Given the description of an element on the screen output the (x, y) to click on. 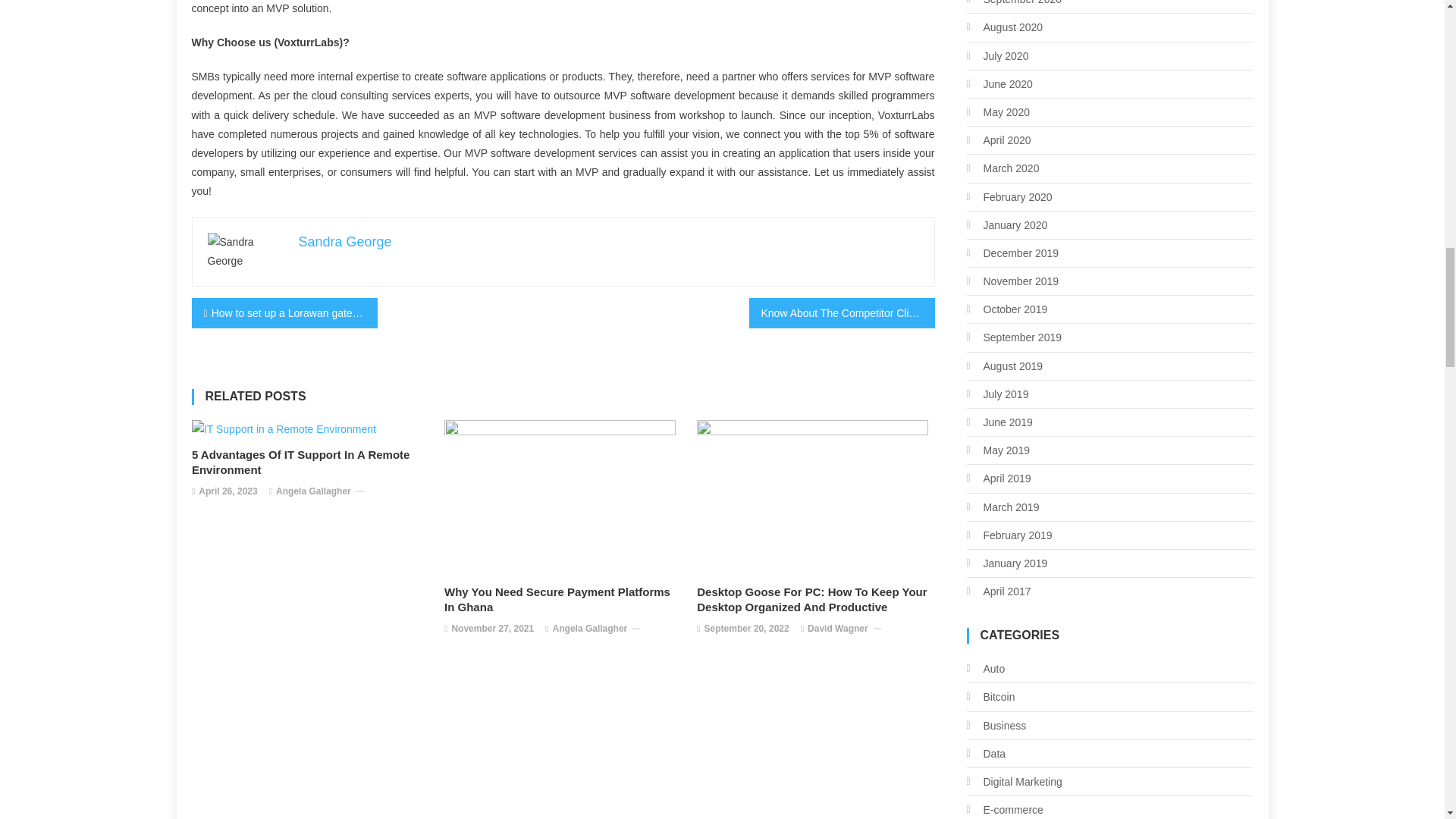
April 26, 2023 (227, 492)
Sandra George (344, 241)
November 27, 2021 (492, 629)
September 20, 2022 (746, 629)
Angela Gallagher (313, 492)
Why You Need Secure Payment Platforms In Ghana (562, 599)
David Wagner (837, 629)
How to set up a Lorawan gateway? (283, 313)
